Given the description of an element on the screen output the (x, y) to click on. 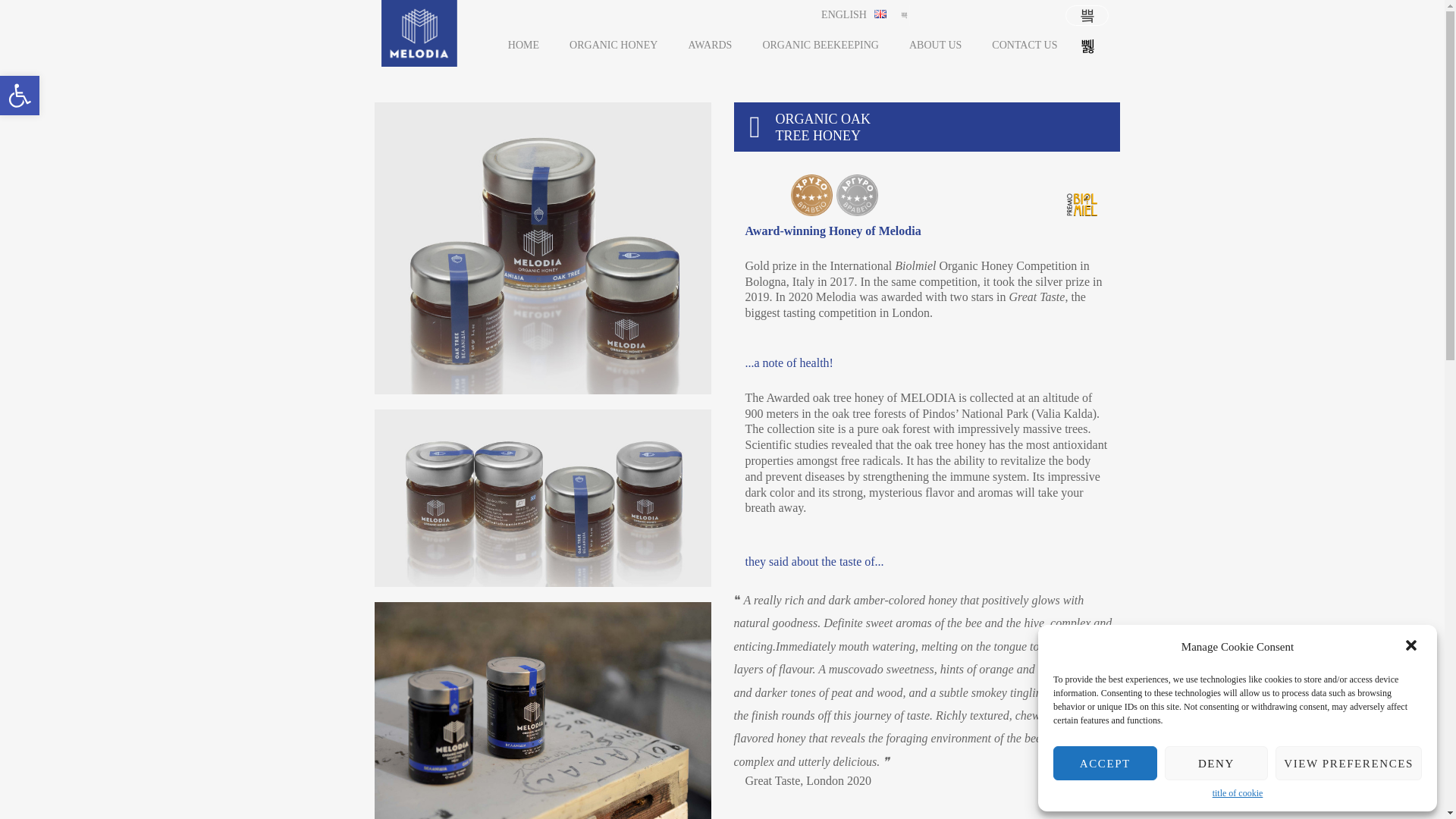
View your shopping cart (1086, 14)
ORGANIC BEEKEEPING (820, 45)
ACCEPT (1104, 763)
ABOUT US (934, 45)
AWARDS (709, 45)
Melodia Honey (418, 33)
Accessibility Tools (19, 95)
AWARDS (709, 45)
title of cookie (1237, 793)
HOME (523, 45)
ABOUT US (934, 45)
DENY (1216, 763)
CONTACT US (1024, 45)
VIEW PREFERENCES (1348, 763)
ORGANIC HONEY (613, 45)
